Given the description of an element on the screen output the (x, y) to click on. 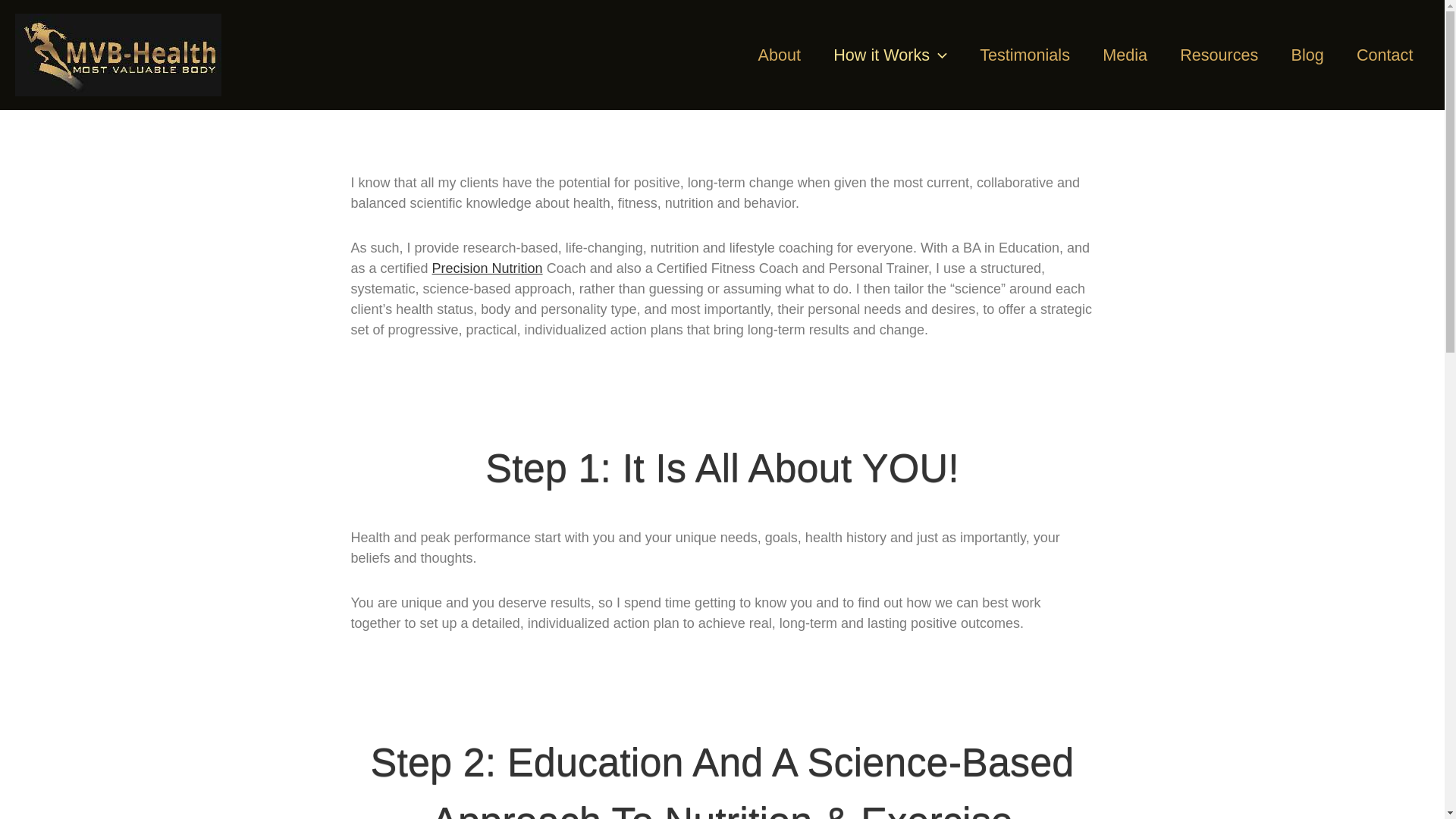
Resources (1219, 54)
Precision Nutrition (487, 268)
Blog (1307, 54)
Testimonials (1024, 54)
Media (1124, 54)
About (778, 54)
How it Works (889, 54)
Contact (1384, 54)
